Given the description of an element on the screen output the (x, y) to click on. 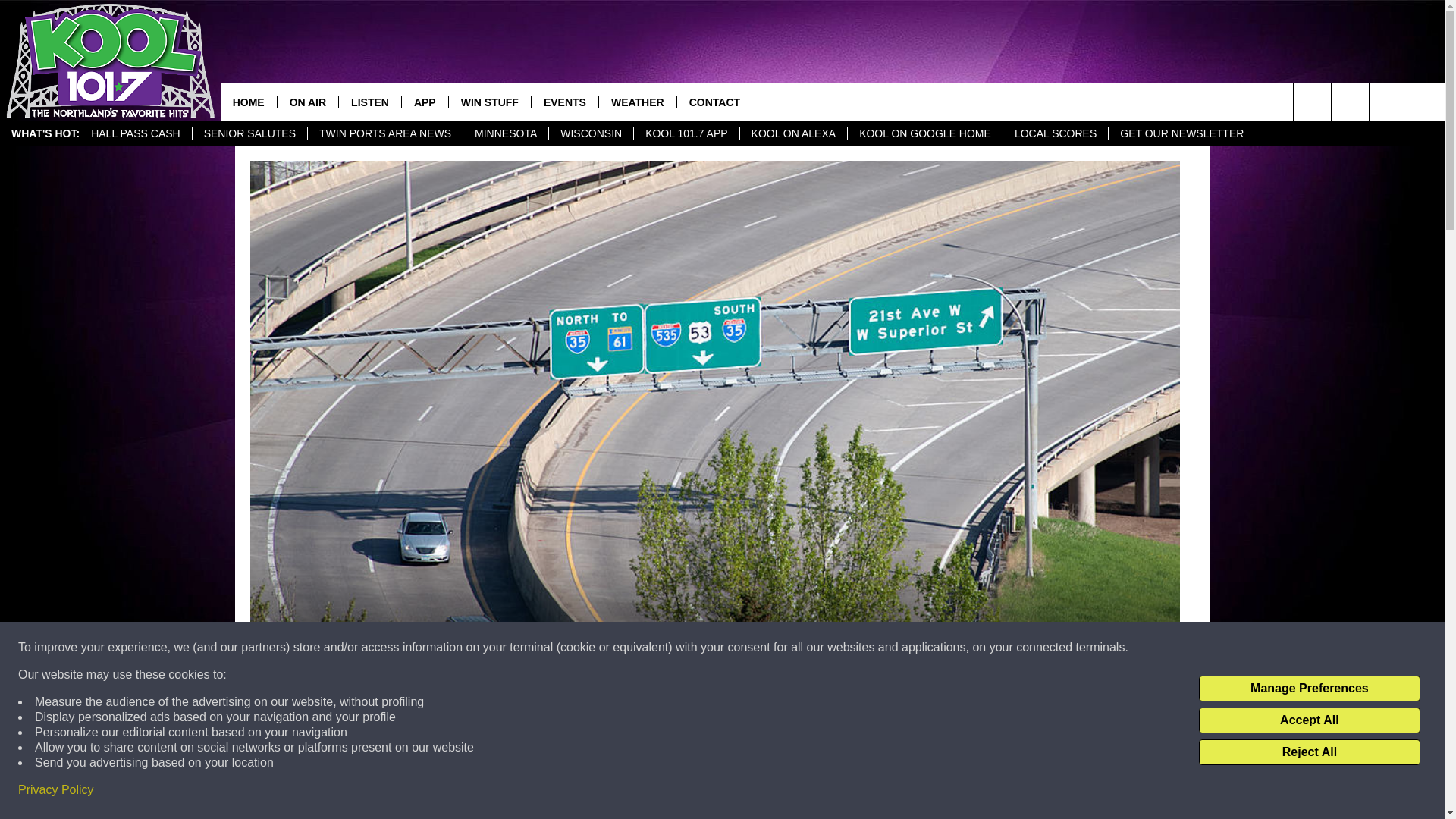
Share on Twitter (912, 791)
GET OUR NEWSLETTER (1181, 133)
LISTEN (369, 102)
MINNESOTA (505, 133)
HOME (248, 102)
HALL PASS CASH (136, 133)
TWIN PORTS AREA NEWS (385, 133)
KOOL ON GOOGLE HOME (925, 133)
Manage Preferences (1309, 688)
Accept All (1309, 720)
SENIOR SALUTES (249, 133)
WISCONSIN (590, 133)
Reject All (1309, 751)
APP (424, 102)
KOOL 101.7 APP (685, 133)
